Given the description of an element on the screen output the (x, y) to click on. 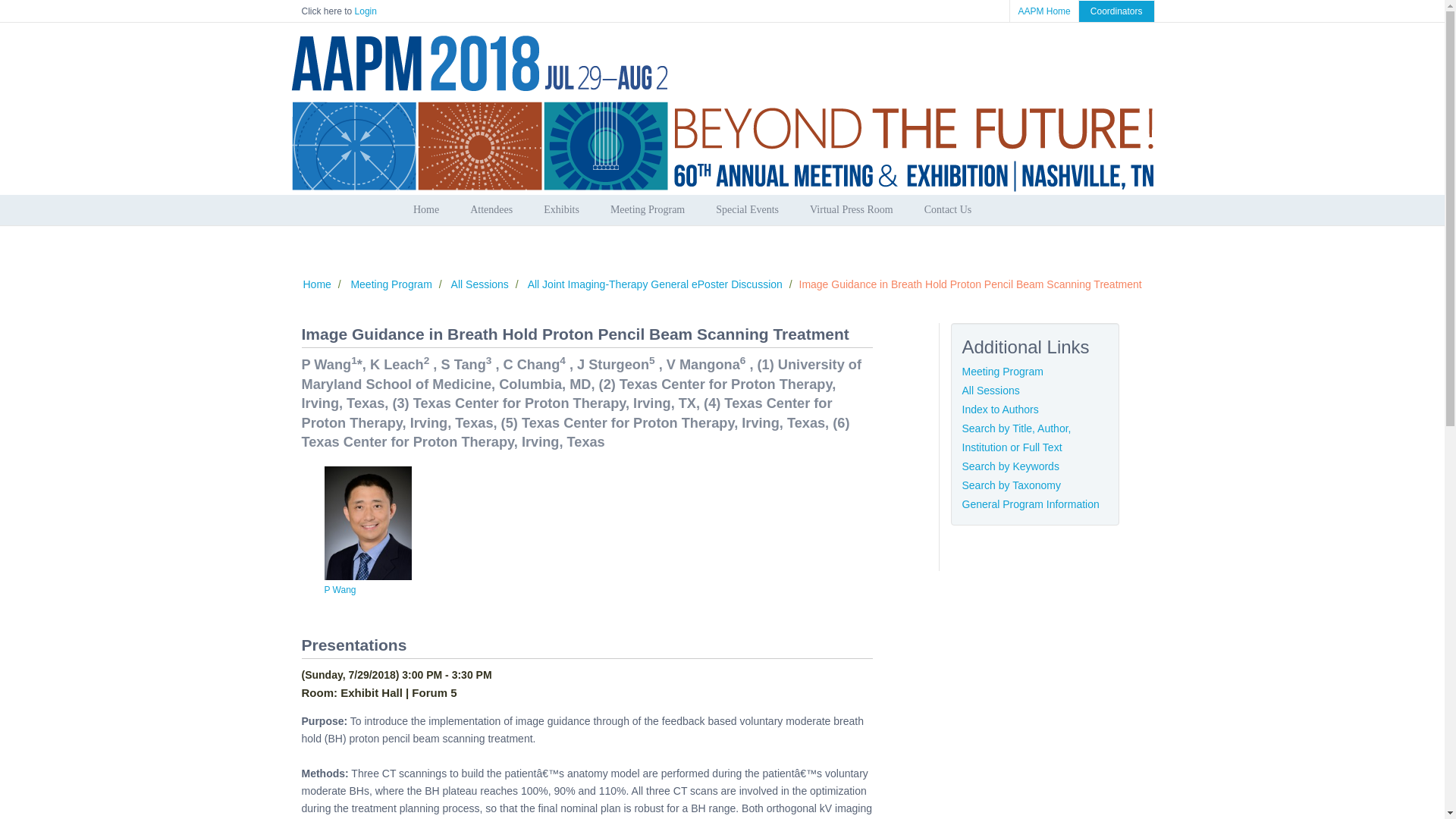
Meeting Program (647, 209)
Coordinators (1116, 11)
Attendees (490, 209)
AAPM Home (1043, 10)
Special Events (746, 209)
Login (366, 10)
Exhibits (561, 209)
Home (425, 209)
